Given the description of an element on the screen output the (x, y) to click on. 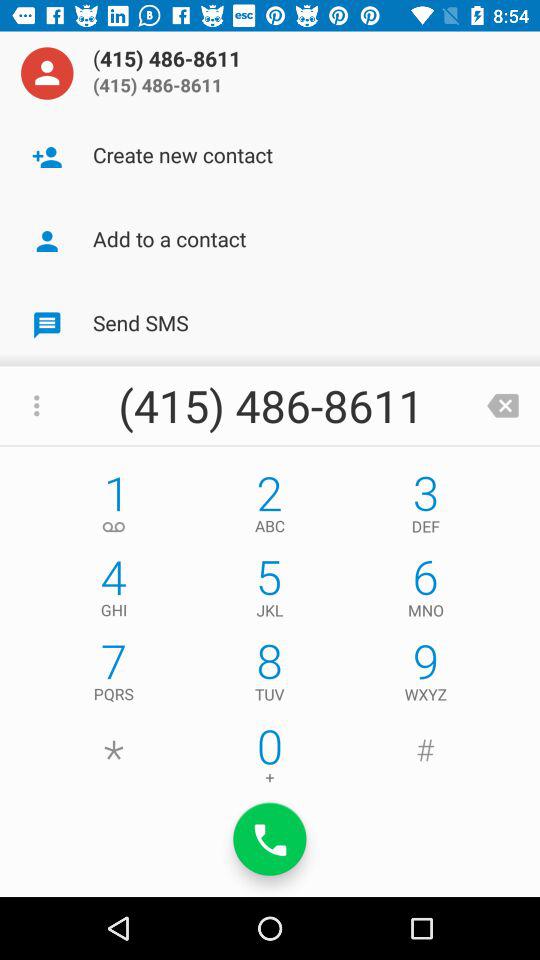
launch icon next to (415) 486-8611 item (47, 73)
